Given the description of an element on the screen output the (x, y) to click on. 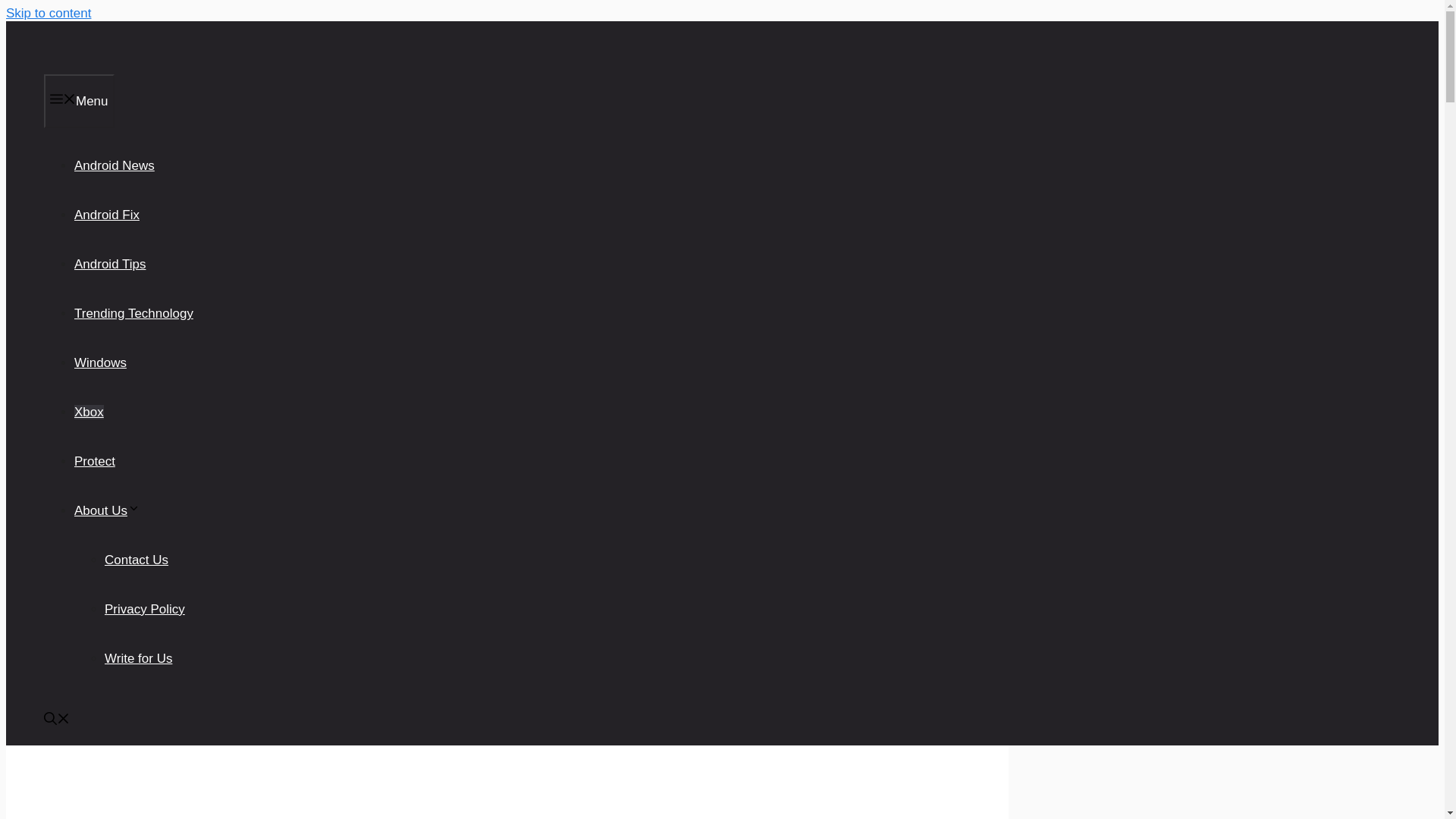
Android News (114, 165)
Milagro Mobile Marketing  (68, 65)
Trending Technology (133, 313)
Xbox (88, 411)
Android Tips (110, 264)
Windows (100, 362)
Privacy Policy (144, 608)
About Us (106, 510)
Menu (79, 100)
Contact Us (136, 559)
Skip to content (47, 12)
Protect (94, 461)
Write for Us (137, 658)
Skip to content (47, 12)
Android Fix (106, 214)
